Given the description of an element on the screen output the (x, y) to click on. 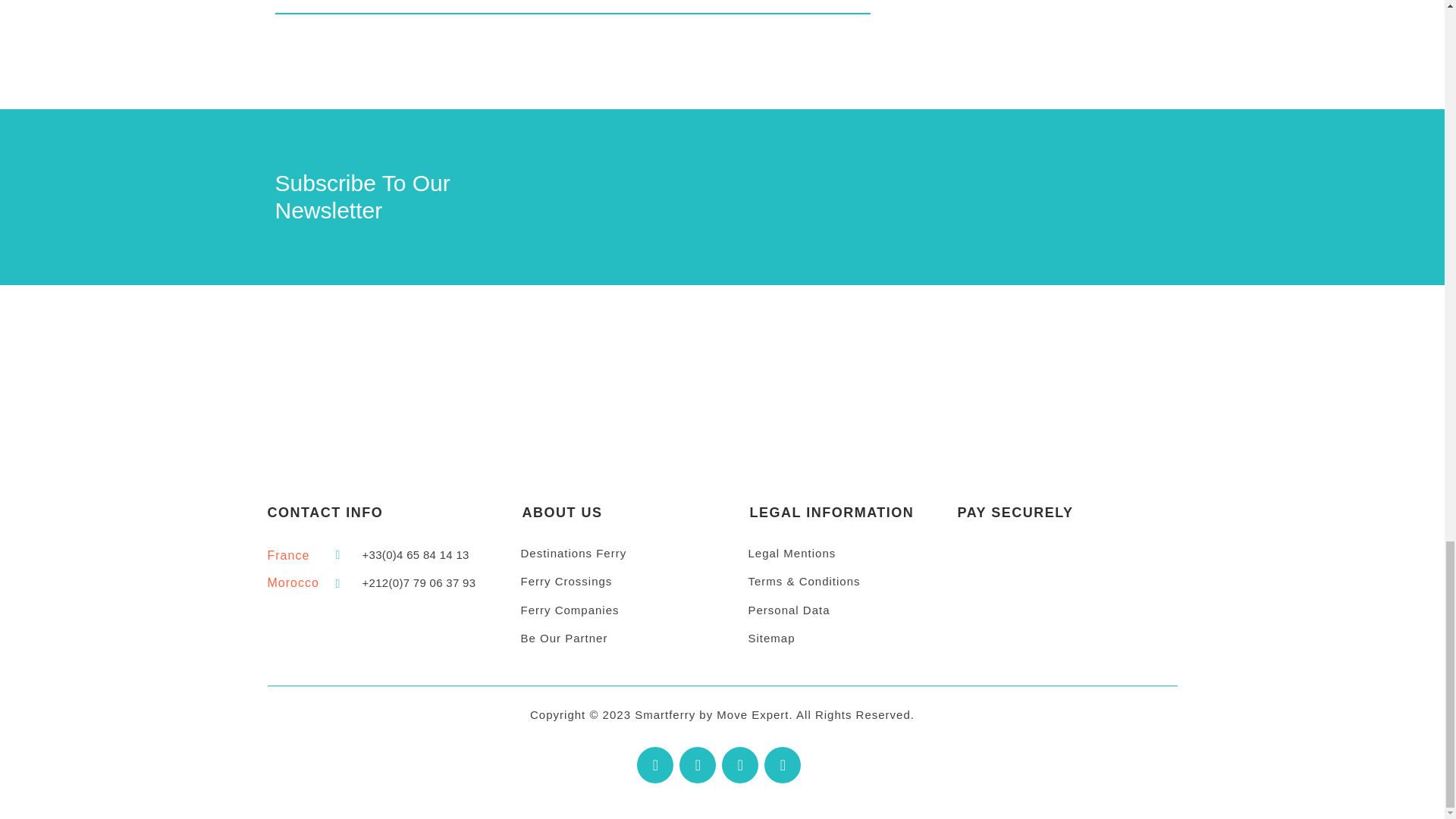
Legal Mentions (848, 553)
Ferry Crossings (620, 581)
Ferry Companies (620, 610)
Destinations Ferry (620, 553)
Be Our Partner (620, 638)
